Given the description of an element on the screen output the (x, y) to click on. 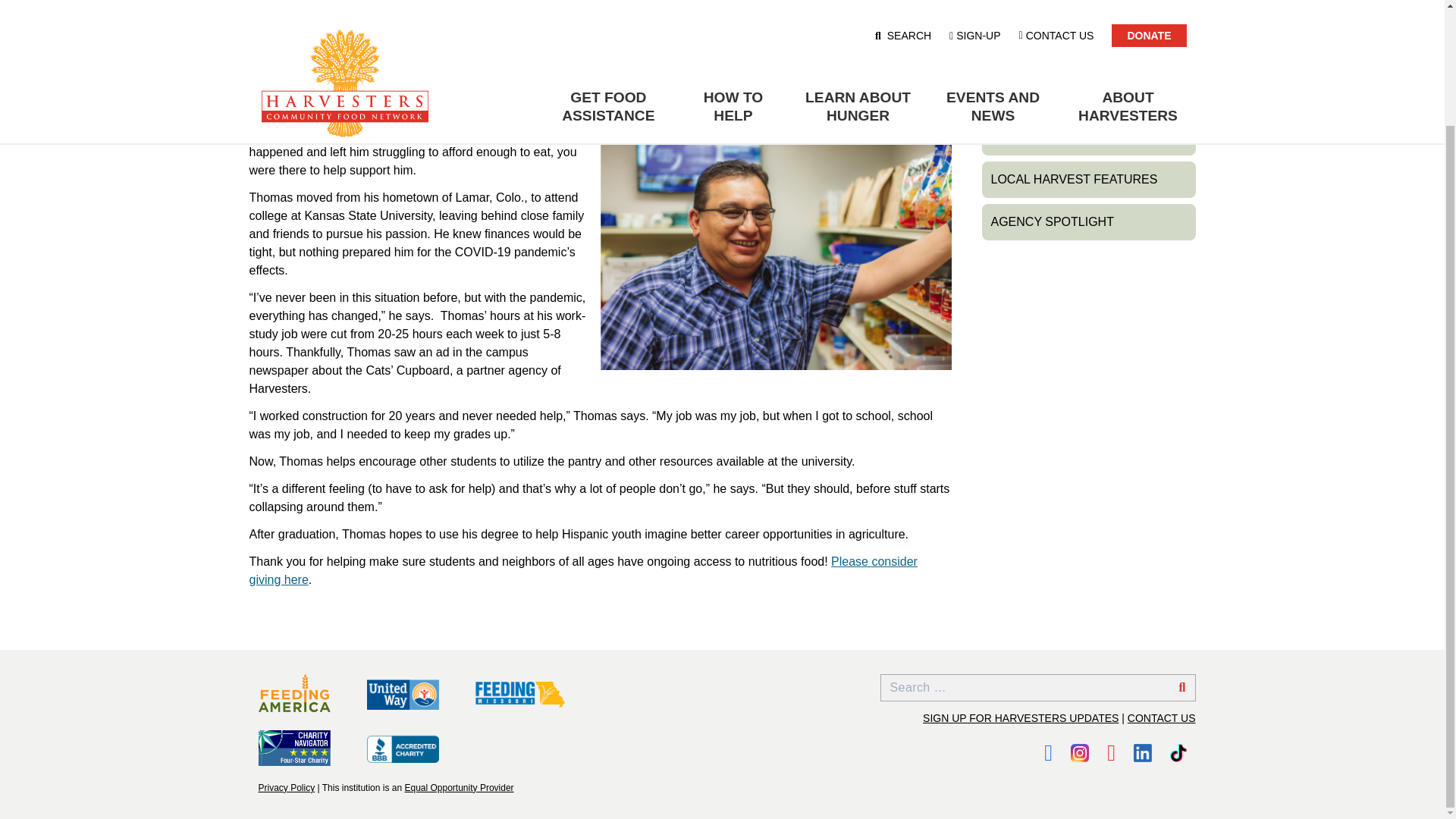
EVENTS AND NEWS (993, 2)
ABOUT HARVESTERS (1128, 2)
HOW TO HELP (732, 2)
LEARN ABOUT HUNGER (858, 2)
GET FOOD ASSISTANCE (607, 2)
